Given the description of an element on the screen output the (x, y) to click on. 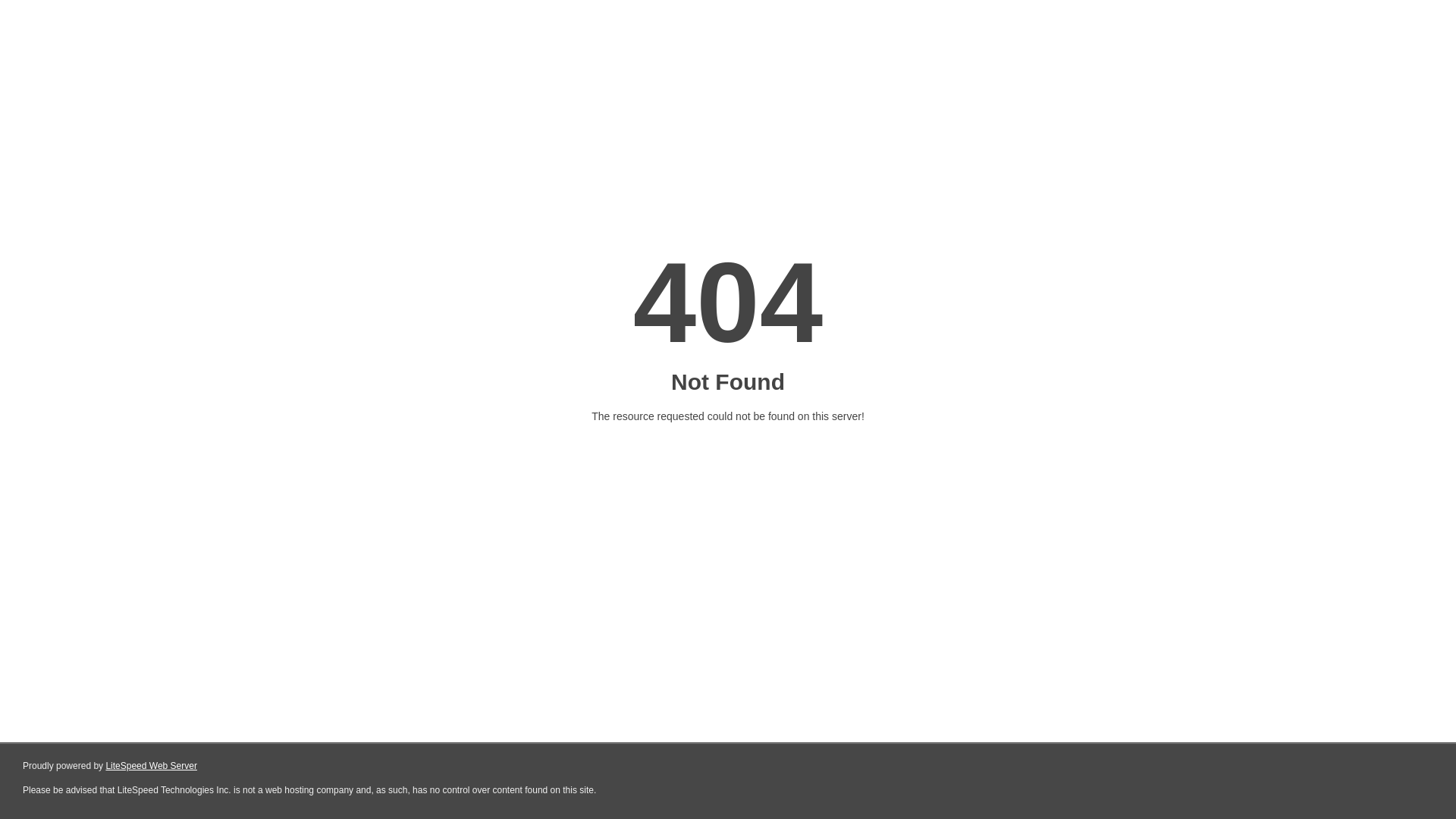
LiteSpeed Web Server Element type: text (151, 765)
